Given the description of an element on the screen output the (x, y) to click on. 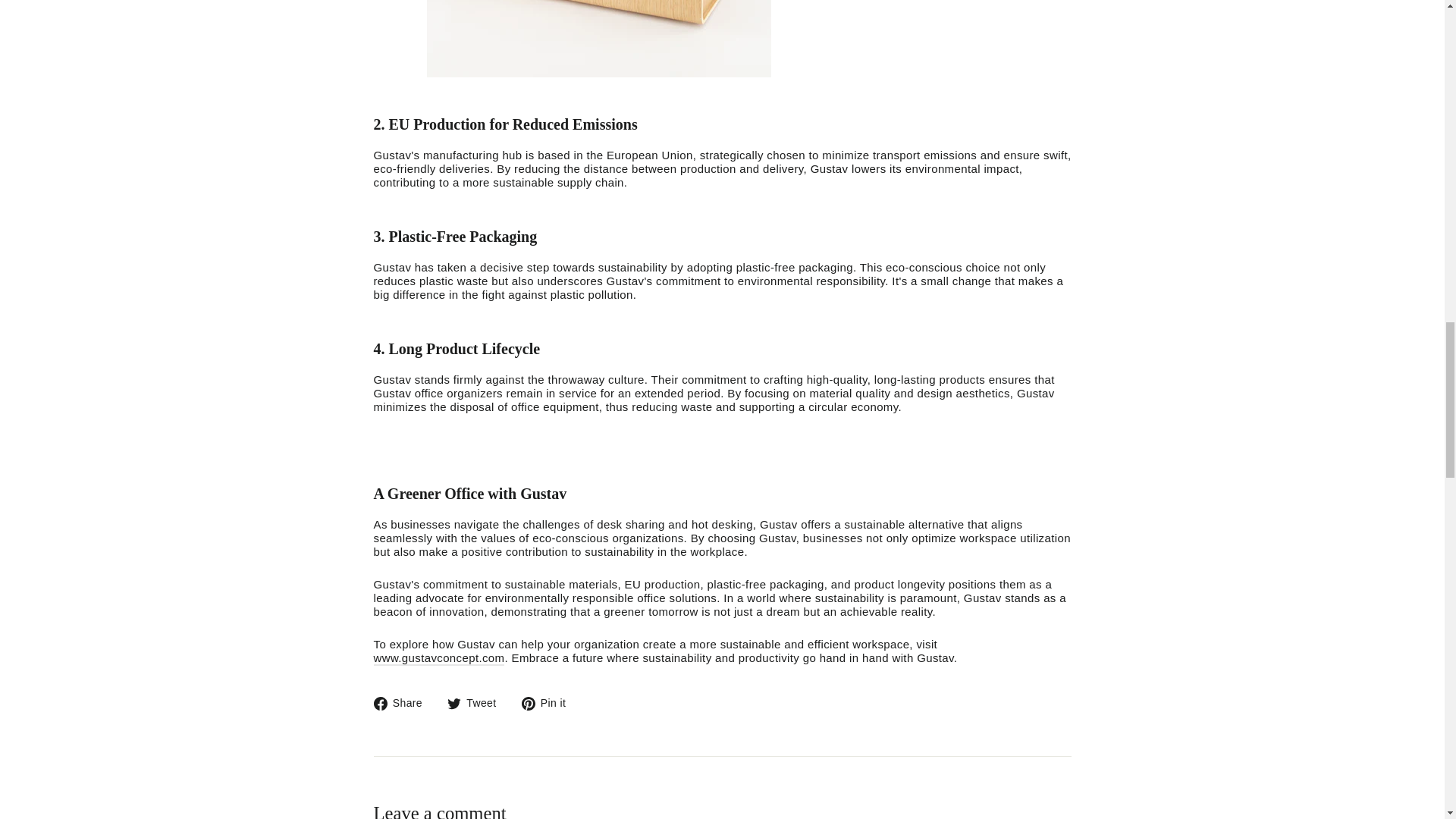
Tweet on Twitter (477, 695)
Pin on Pinterest (549, 695)
Share on Facebook (402, 695)
twitter (453, 695)
